Given the description of an element on the screen output the (x, y) to click on. 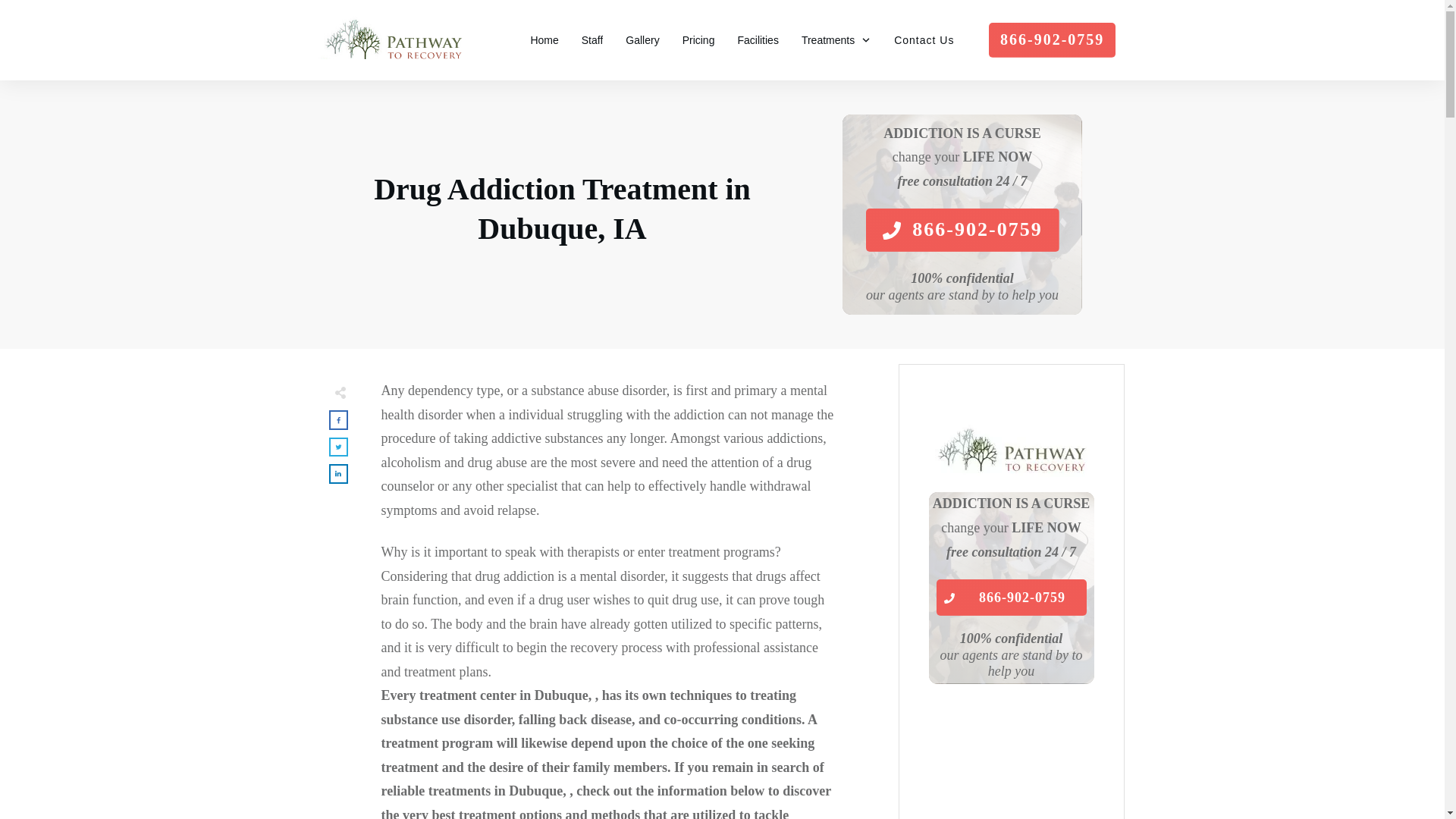
Facilities (756, 39)
Gallery (642, 39)
Staff (592, 39)
866-902-0759 (1051, 39)
866-902-0759 (962, 229)
866-902-0759 (1011, 597)
Drug Addiction Treatment in Dubuque, IA (562, 208)
Pricing (698, 39)
Drug Addiction Treatment in Dubuque, IA (562, 208)
Home (543, 39)
